Given the description of an element on the screen output the (x, y) to click on. 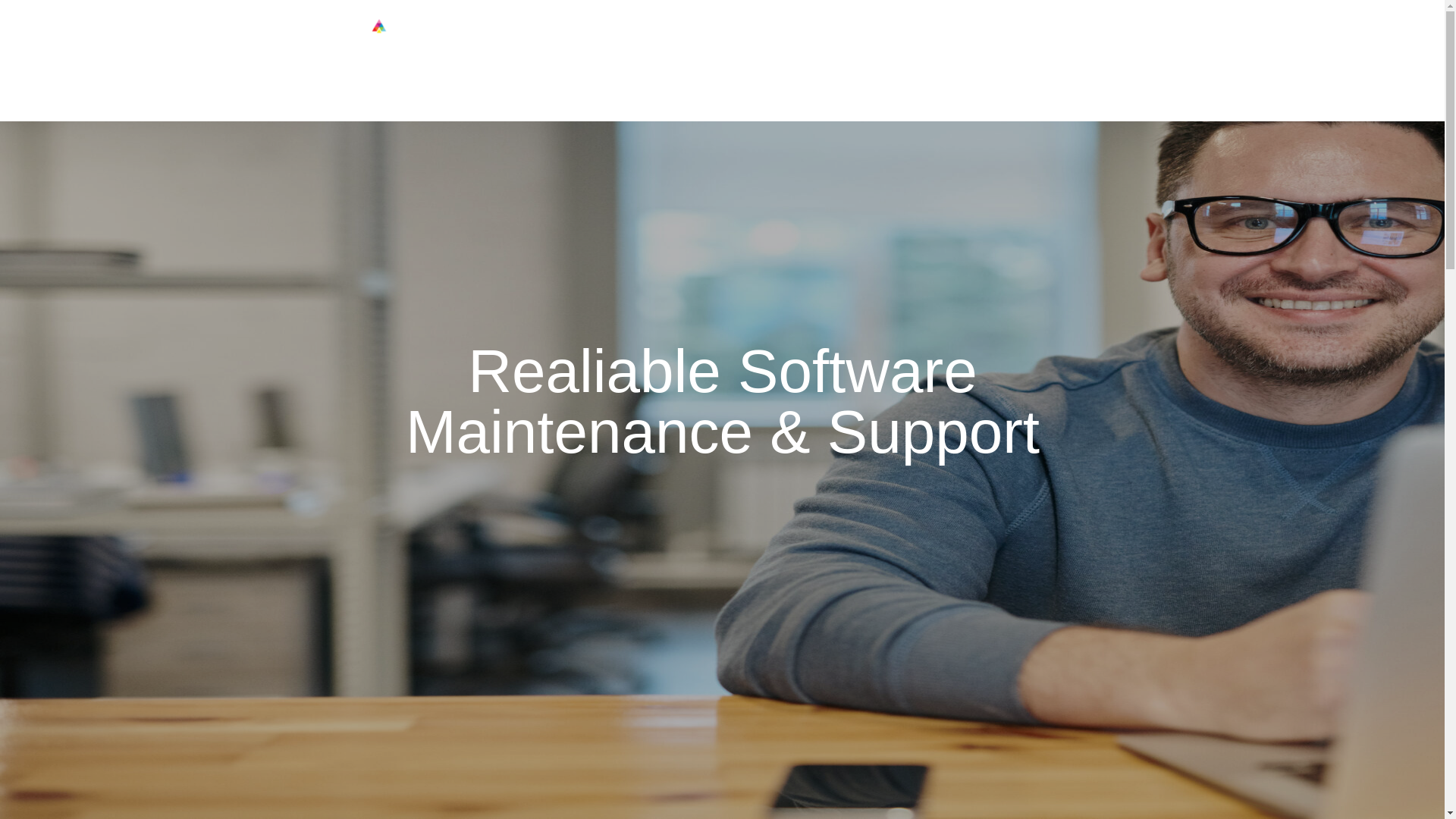
TRAVELTECH CONNECT (928, 90)
DMCA.com Protection Status (57, 761)
VACATION RENTALS (799, 90)
DIGITAL EXPERIENCE PLATFORM (600, 90)
